Given the description of an element on the screen output the (x, y) to click on. 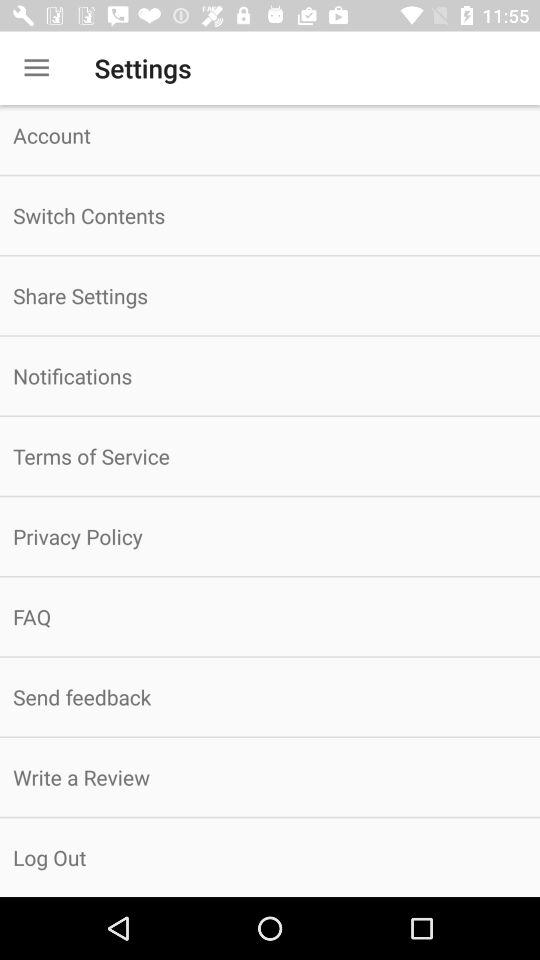
open icon above notifications icon (270, 295)
